Given the description of an element on the screen output the (x, y) to click on. 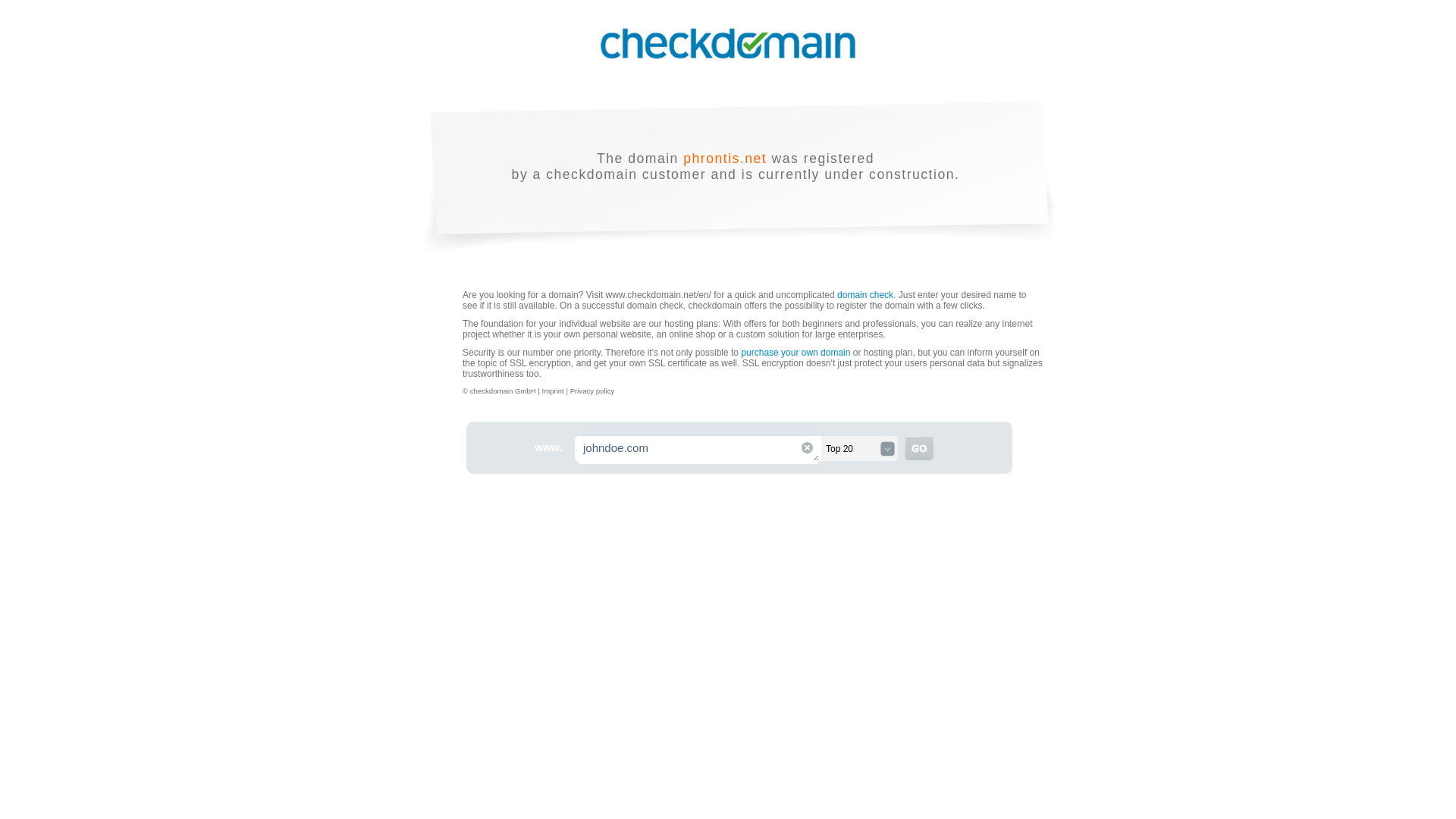
domain check (865, 294)
Privacy policy (592, 390)
purchase your own domain (795, 352)
Imprint (553, 390)
